Given the description of an element on the screen output the (x, y) to click on. 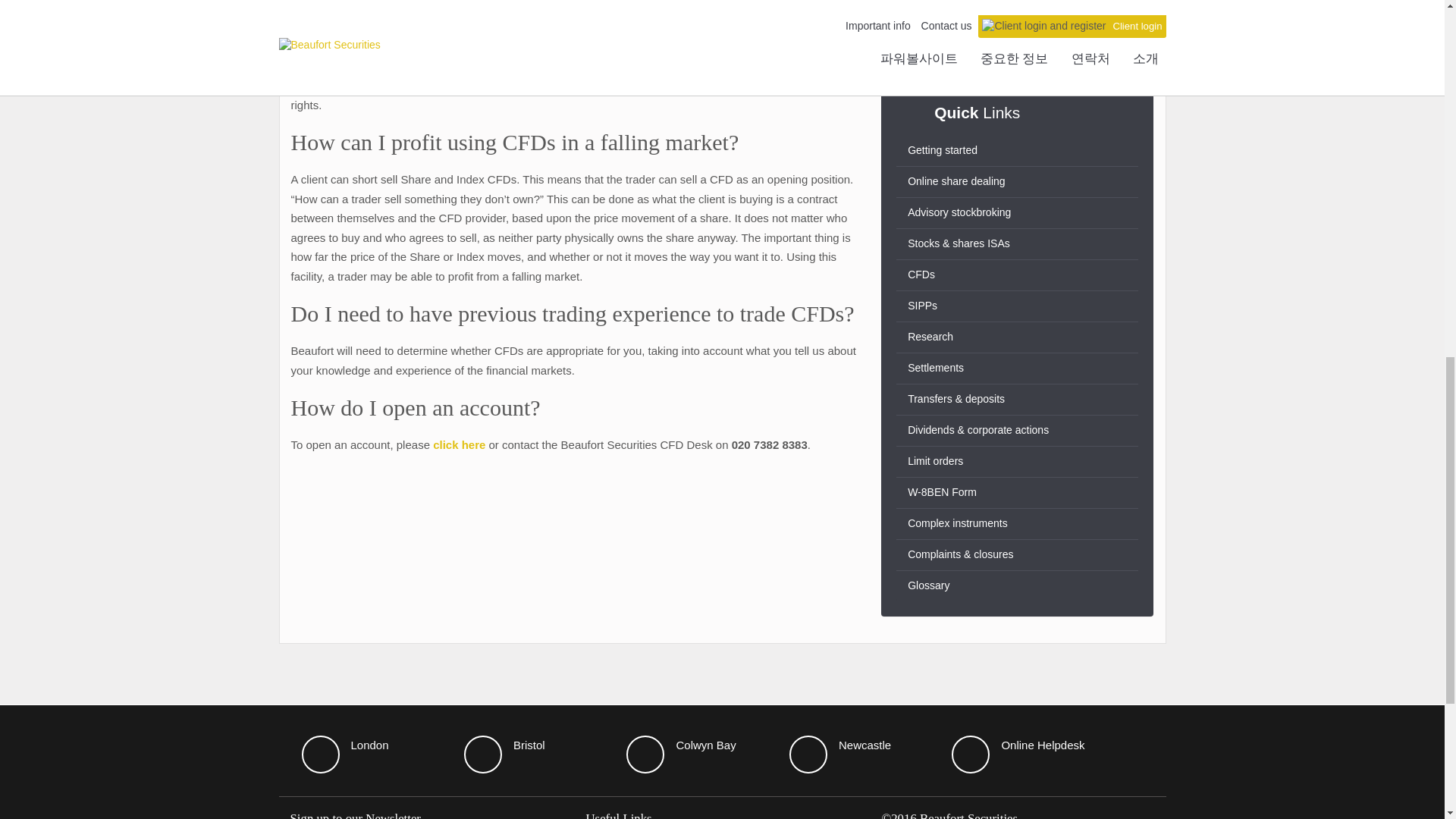
CFDs (1017, 275)
Getting started (1017, 150)
Research (1017, 337)
Settlements (1017, 368)
Online share dealing (1017, 182)
SIPPs (1017, 306)
Glossary (1017, 585)
Complex instruments (1017, 523)
Advisory stockbroking (1017, 213)
Limit orders (1017, 461)
